Given the description of an element on the screen output the (x, y) to click on. 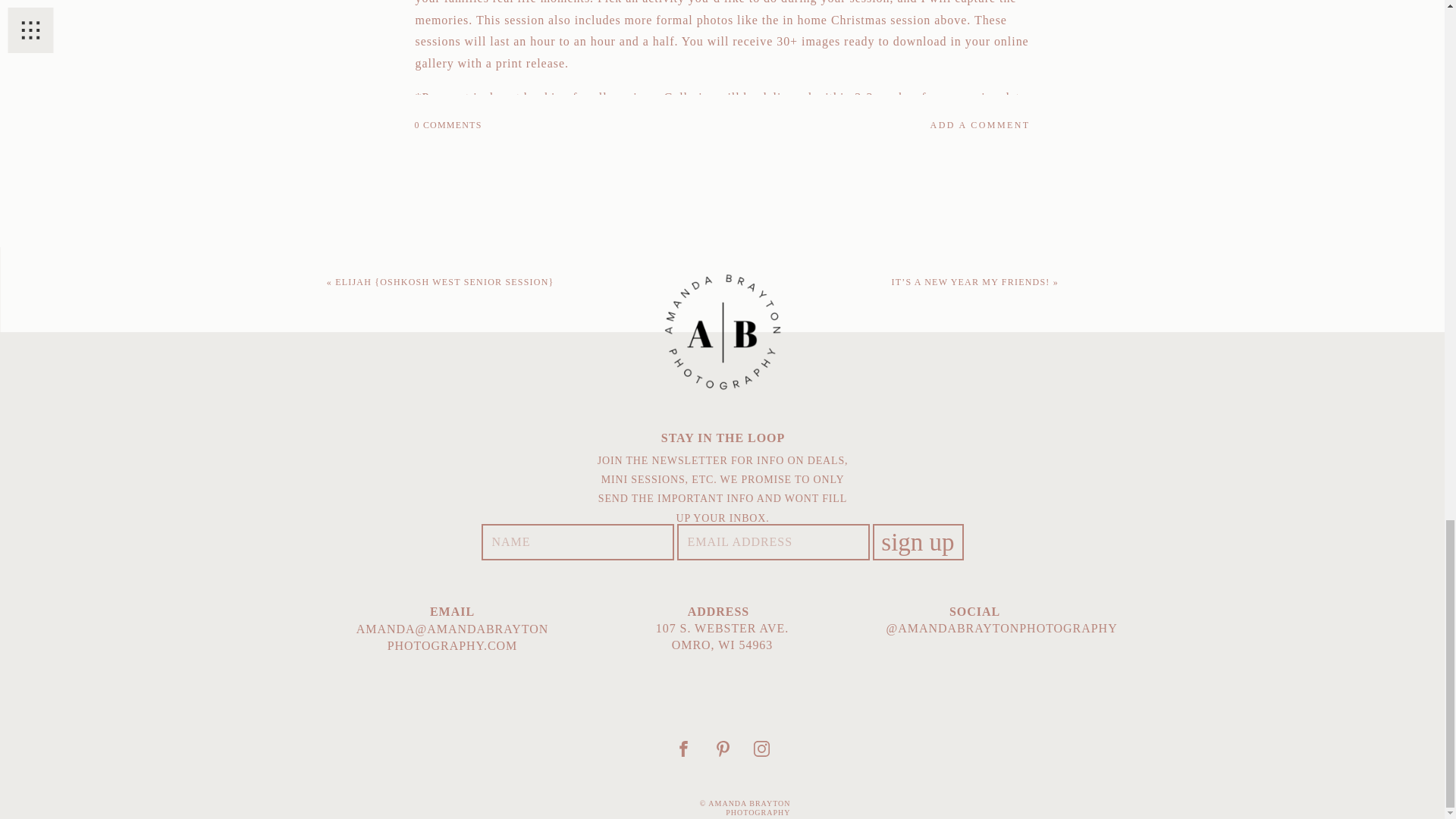
ADD A COMMENT (883, 124)
sign up (917, 517)
0 COMMENTS (447, 124)
